Given the description of an element on the screen output the (x, y) to click on. 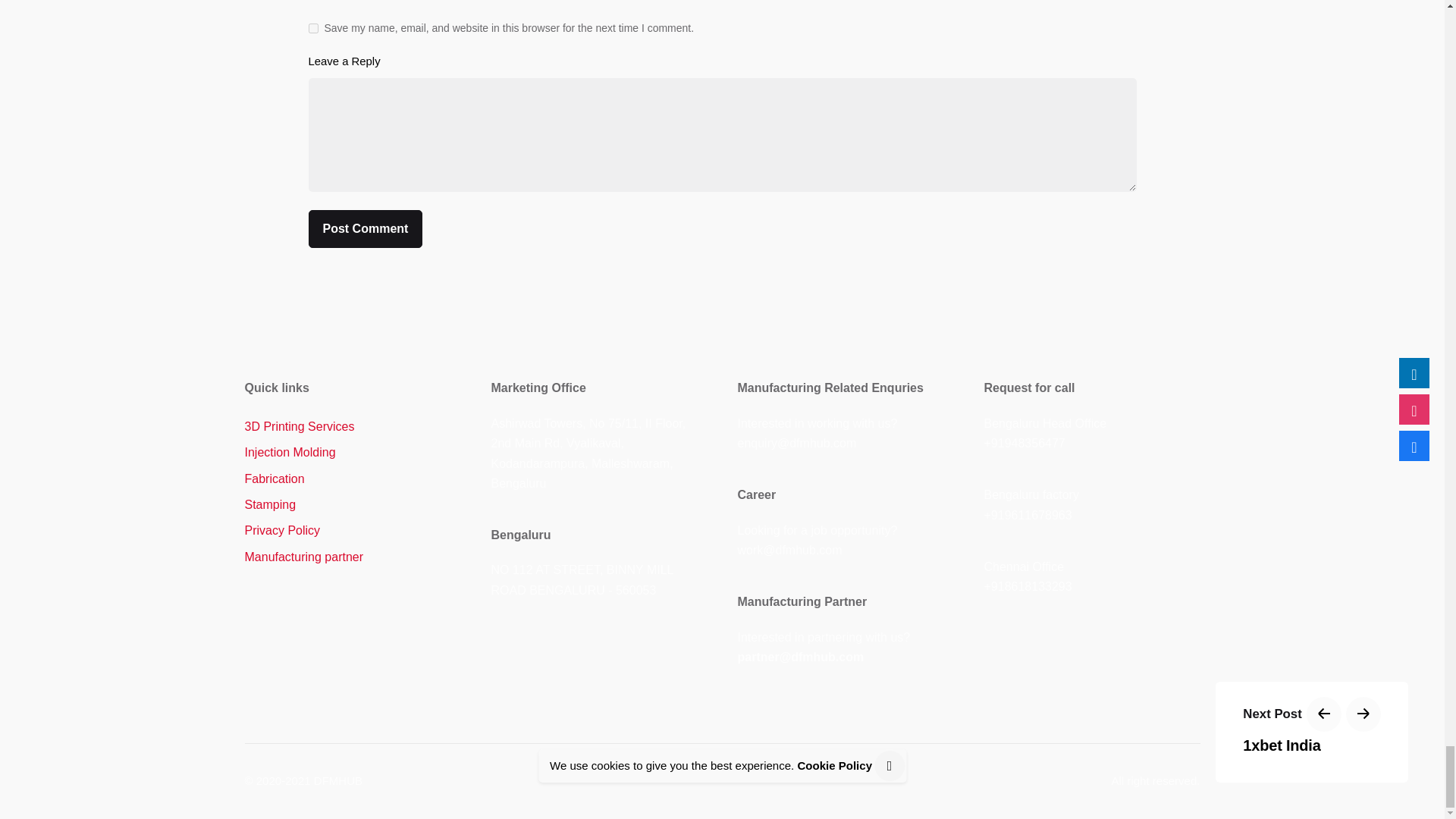
Post Comment (364, 228)
yes (312, 28)
Injection Molding (289, 451)
3D Printing Services (298, 426)
